Given the description of an element on the screen output the (x, y) to click on. 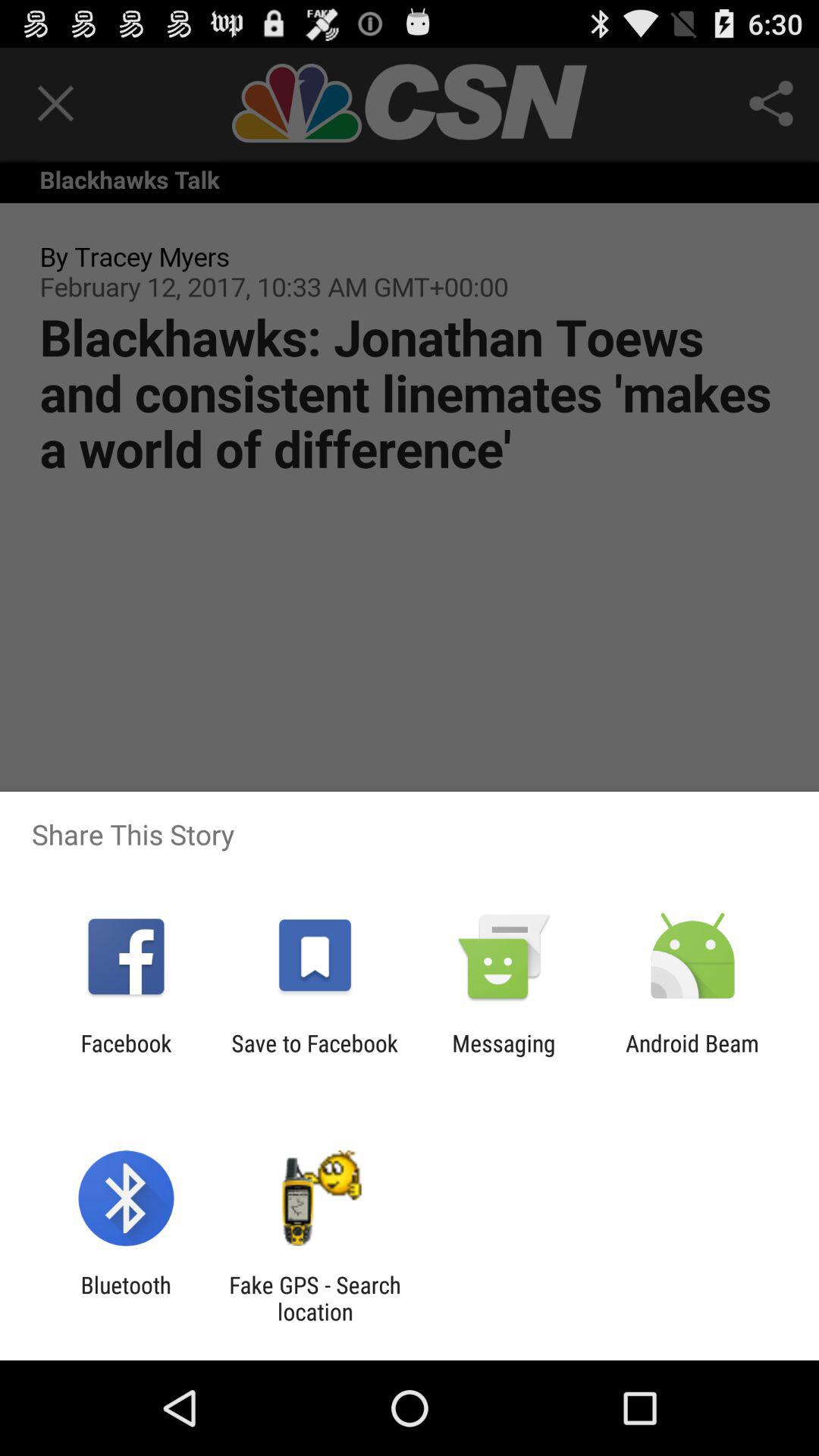
choose icon next to the bluetooth (314, 1298)
